Given the description of an element on the screen output the (x, y) to click on. 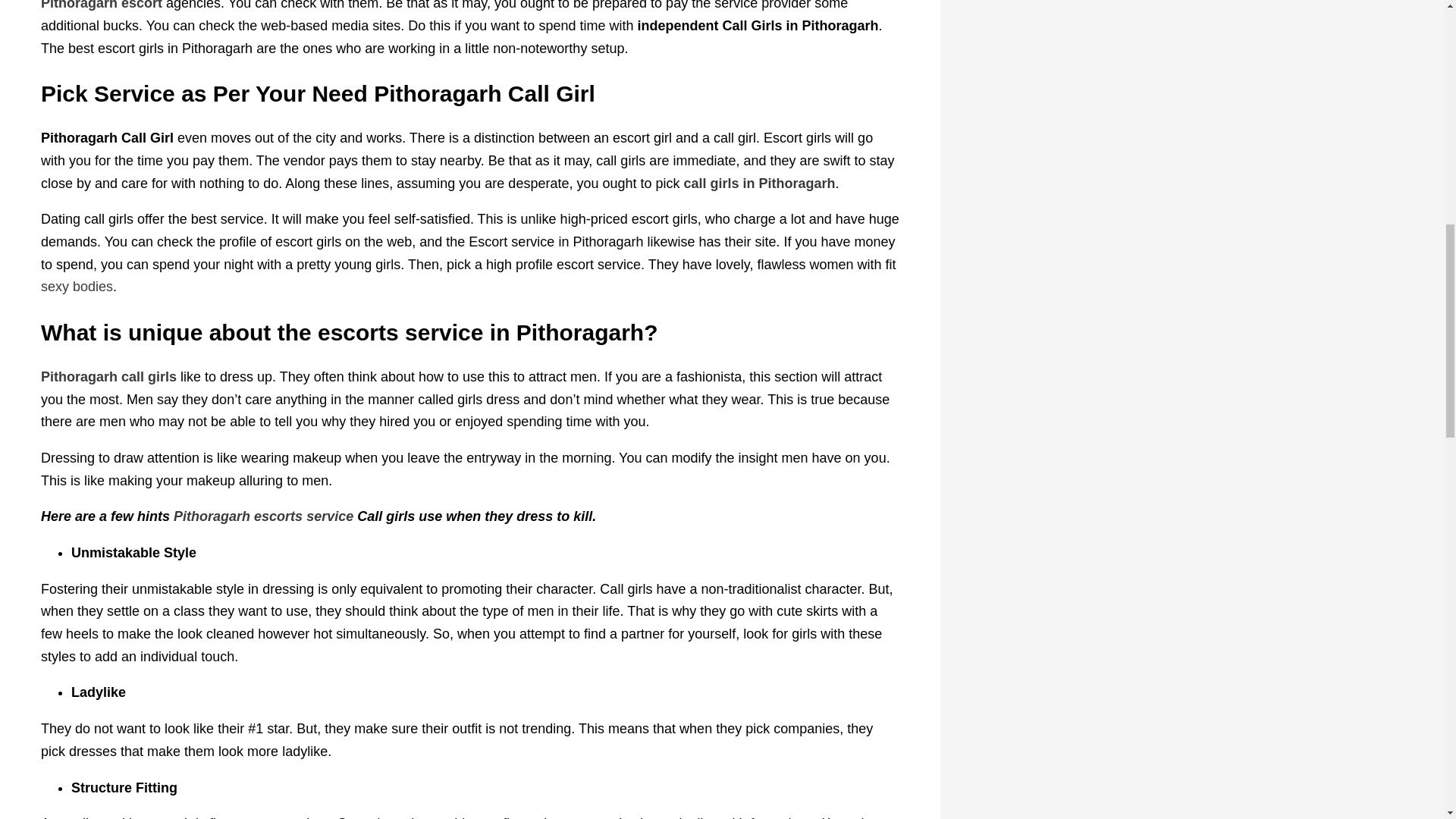
call girls in Pithoragarh (759, 183)
Pithoragarh escort (100, 5)
Pithoragarh escorts service (263, 516)
sexy bodies (76, 286)
Pithoragarh call girls (108, 376)
